Given the description of an element on the screen output the (x, y) to click on. 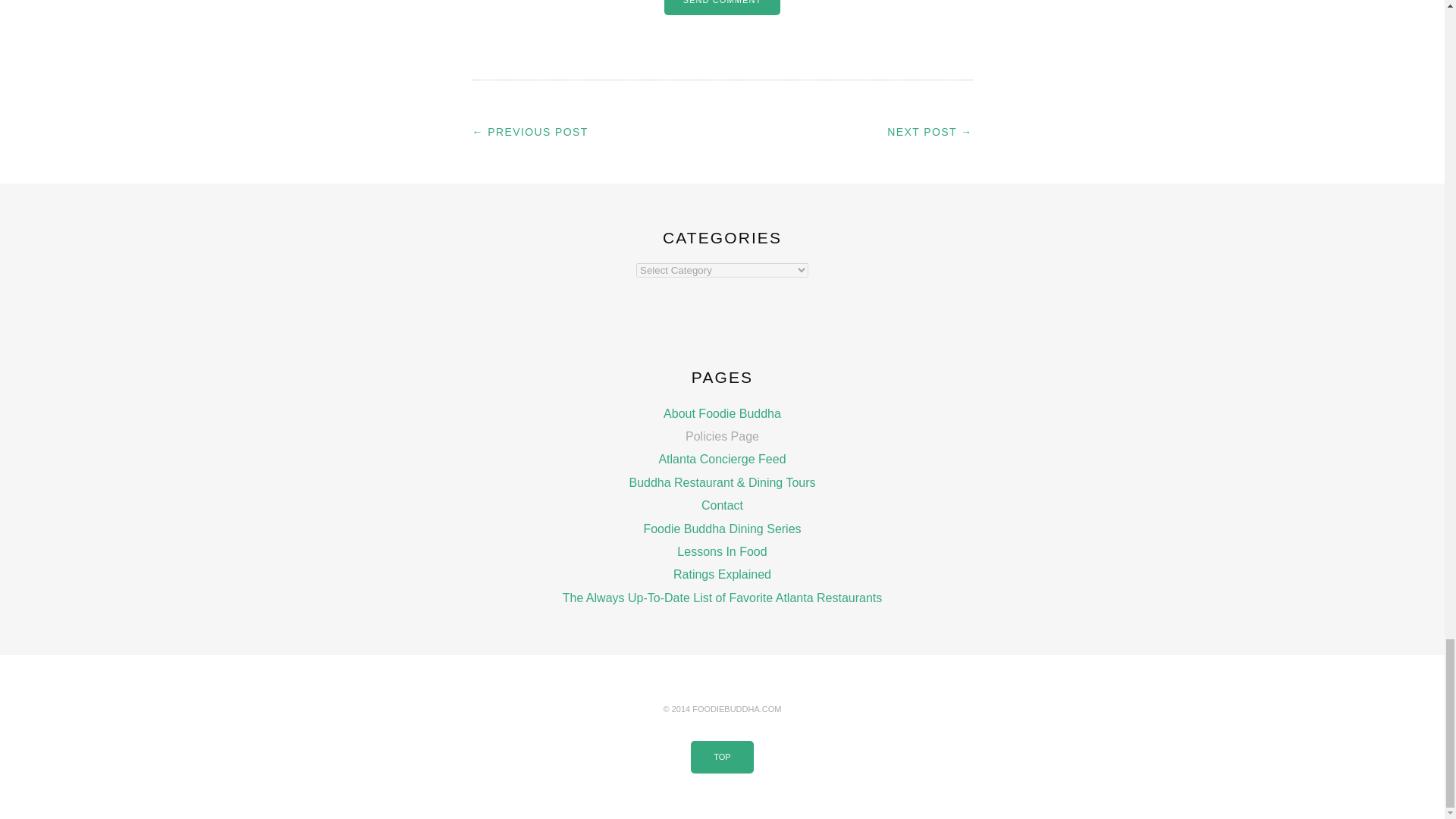
Send Comment (721, 7)
